Given the description of an element on the screen output the (x, y) to click on. 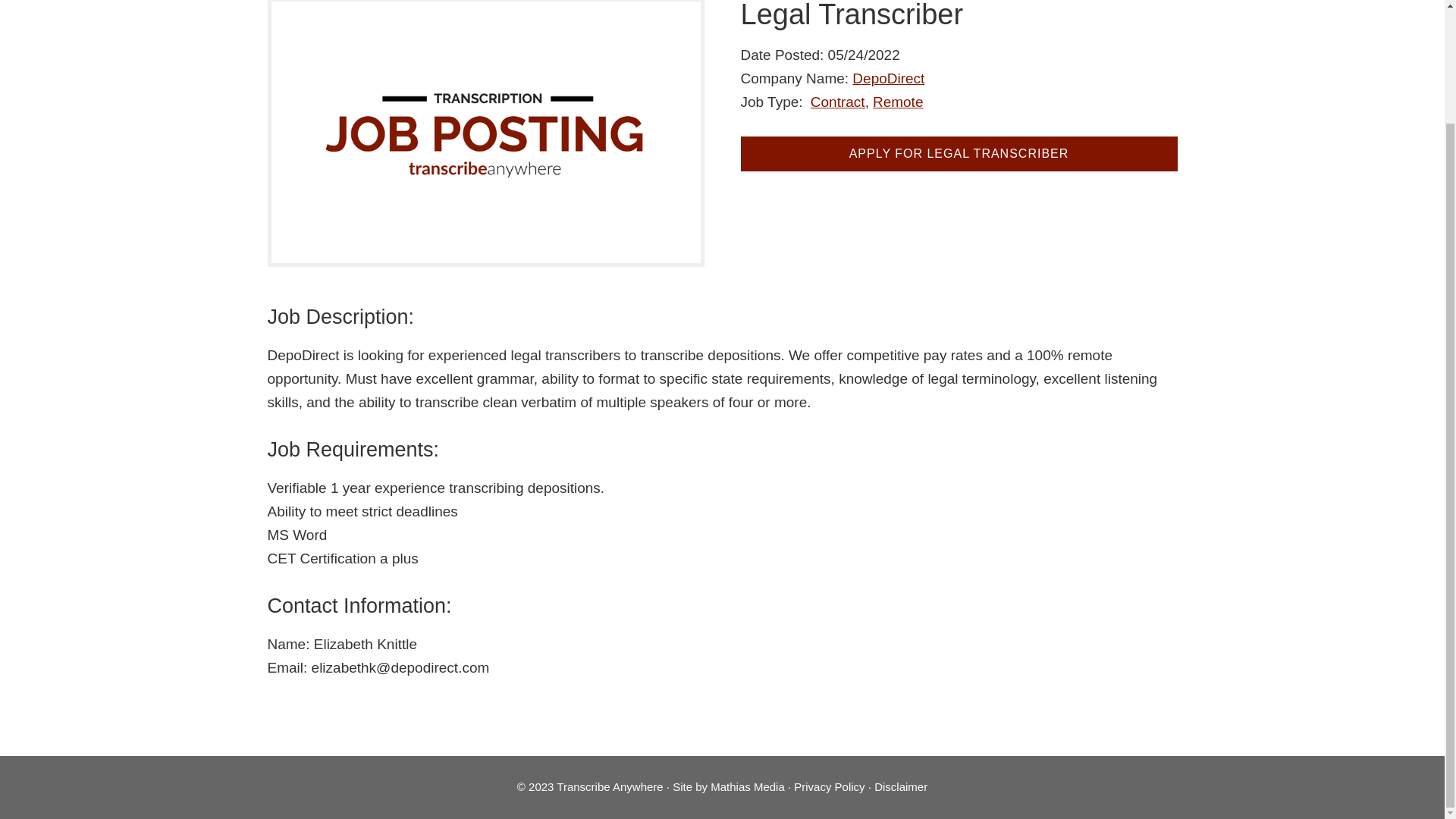
Transcribe Anywhere (609, 786)
Disclaimer (901, 786)
DepoDirect (887, 78)
Remote (897, 100)
APPLY FOR LEGAL TRANSCRIBER (957, 153)
Privacy Policy (828, 786)
Mathias Media (747, 786)
Contract (839, 100)
